Given the description of an element on the screen output the (x, y) to click on. 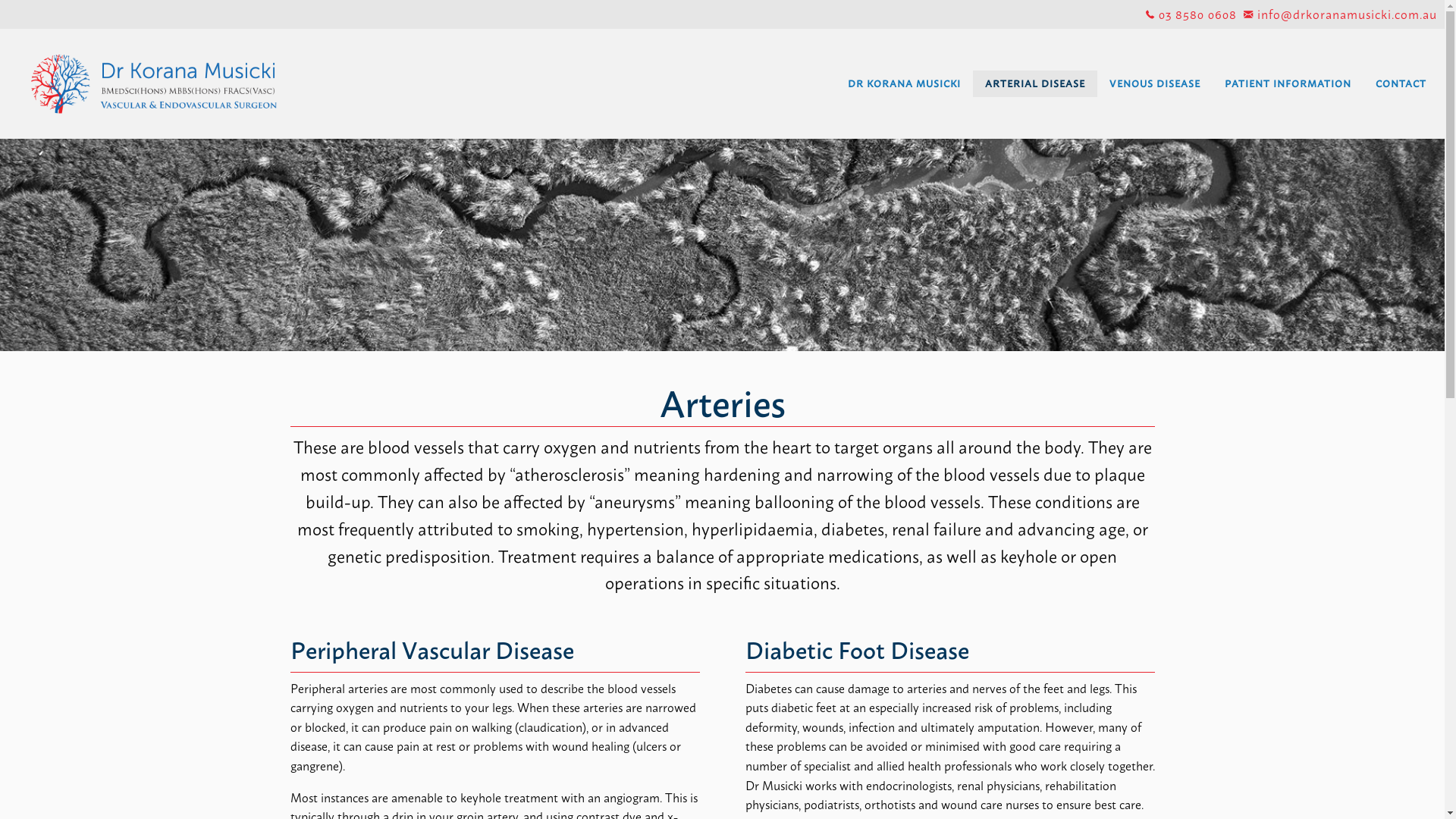
info@drkoranamusicki.com.au Element type: text (1343, 14)
ARTERIAL DISEASE Element type: text (1034, 83)
CONTACT Element type: text (1400, 83)
VENOUS DISEASE Element type: text (1154, 83)
03 8580 0608 Element type: text (1194, 14)
DR KORANA MUSICKI Element type: text (903, 83)
PATIENT INFORMATION Element type: text (1287, 83)
